Given the description of an element on the screen output the (x, y) to click on. 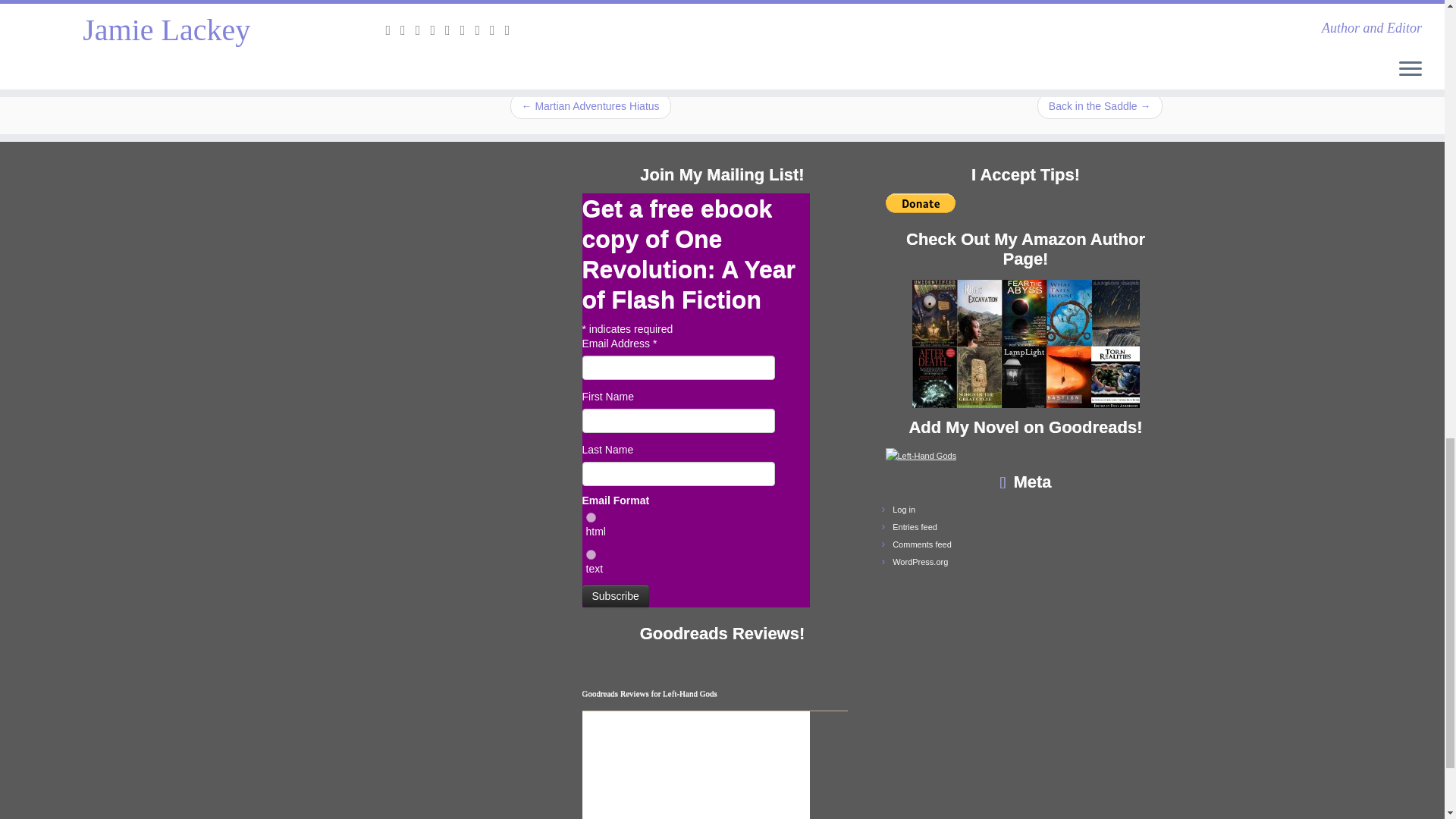
html (590, 517)
Post Comment (551, 9)
Post Comment (551, 9)
Log in (903, 509)
Goodreads Reviews for Left-Hand Gods (649, 692)
Subscribe (615, 595)
text (590, 554)
Subscribe (615, 595)
